Given the description of an element on the screen output the (x, y) to click on. 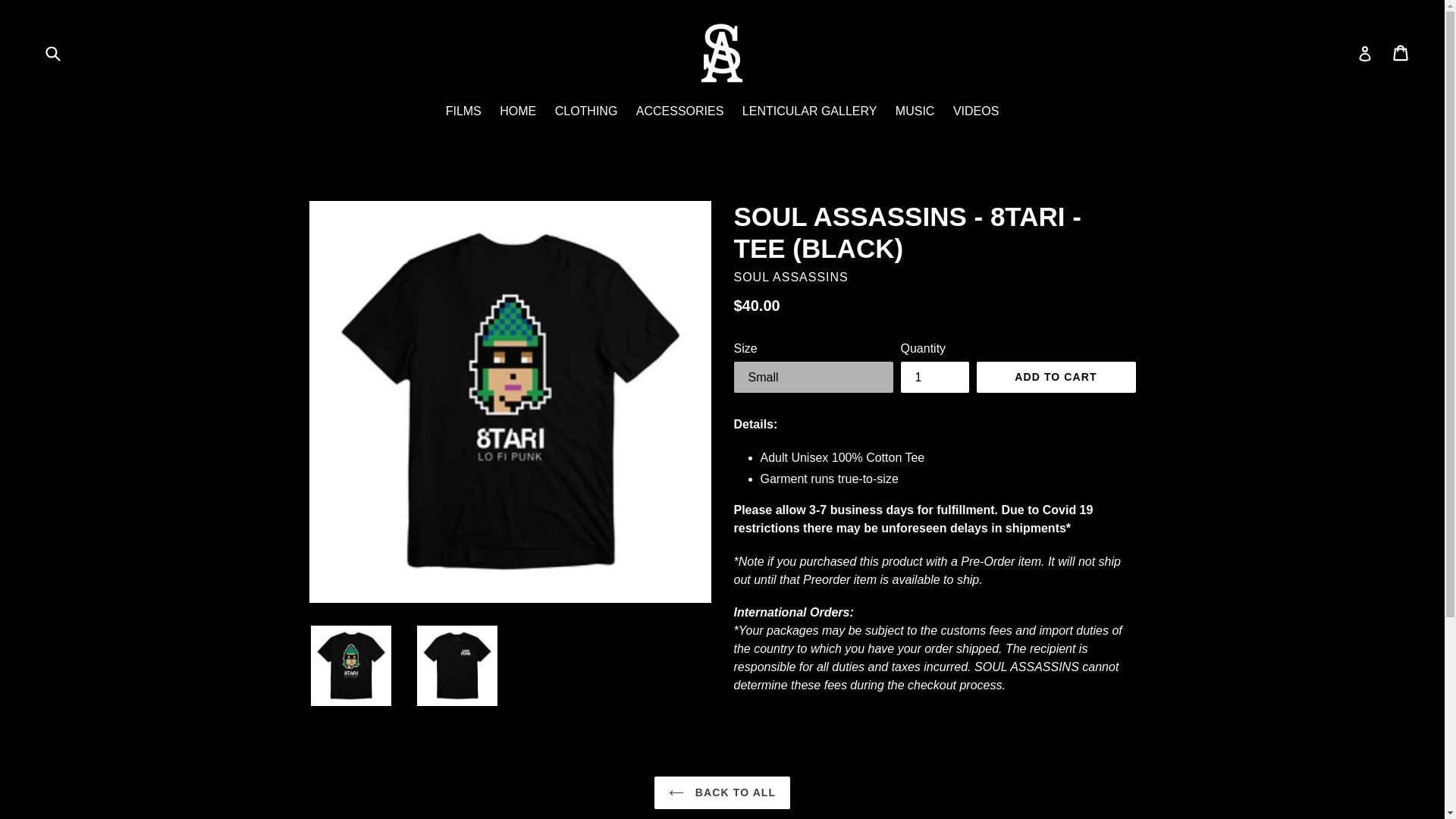
MUSIC (915, 112)
ADD TO CART (1055, 377)
1 (935, 377)
LENTICULAR GALLERY (810, 112)
CLOTHING (586, 112)
BACK TO ALL (721, 792)
FILMS (463, 112)
HOME (517, 112)
ACCESSORIES (680, 112)
VIDEOS (975, 112)
